Given the description of an element on the screen output the (x, y) to click on. 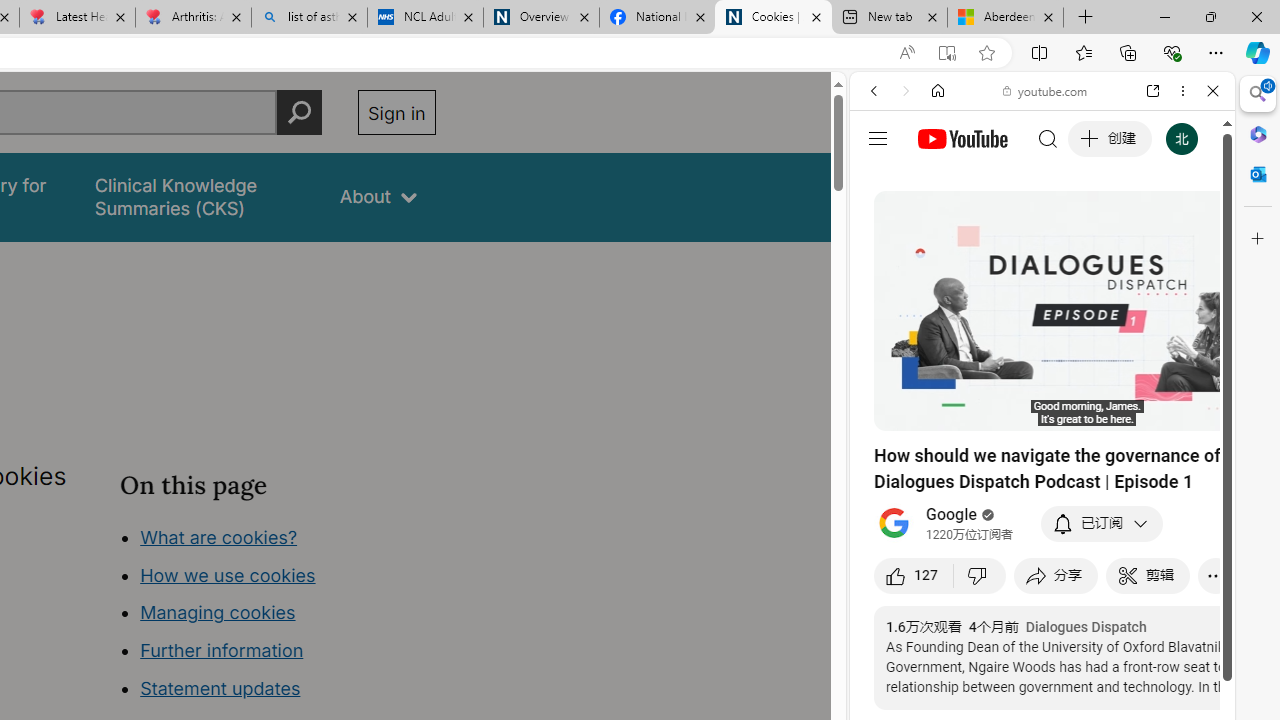
Enter Immersive Reader (F9) (946, 53)
Dialogues Dispatch (1085, 627)
Search the web (1051, 137)
Search videos from youtube.com (1005, 657)
Forward (906, 91)
#you (1042, 445)
IMAGES (939, 228)
